Given the description of an element on the screen output the (x, y) to click on. 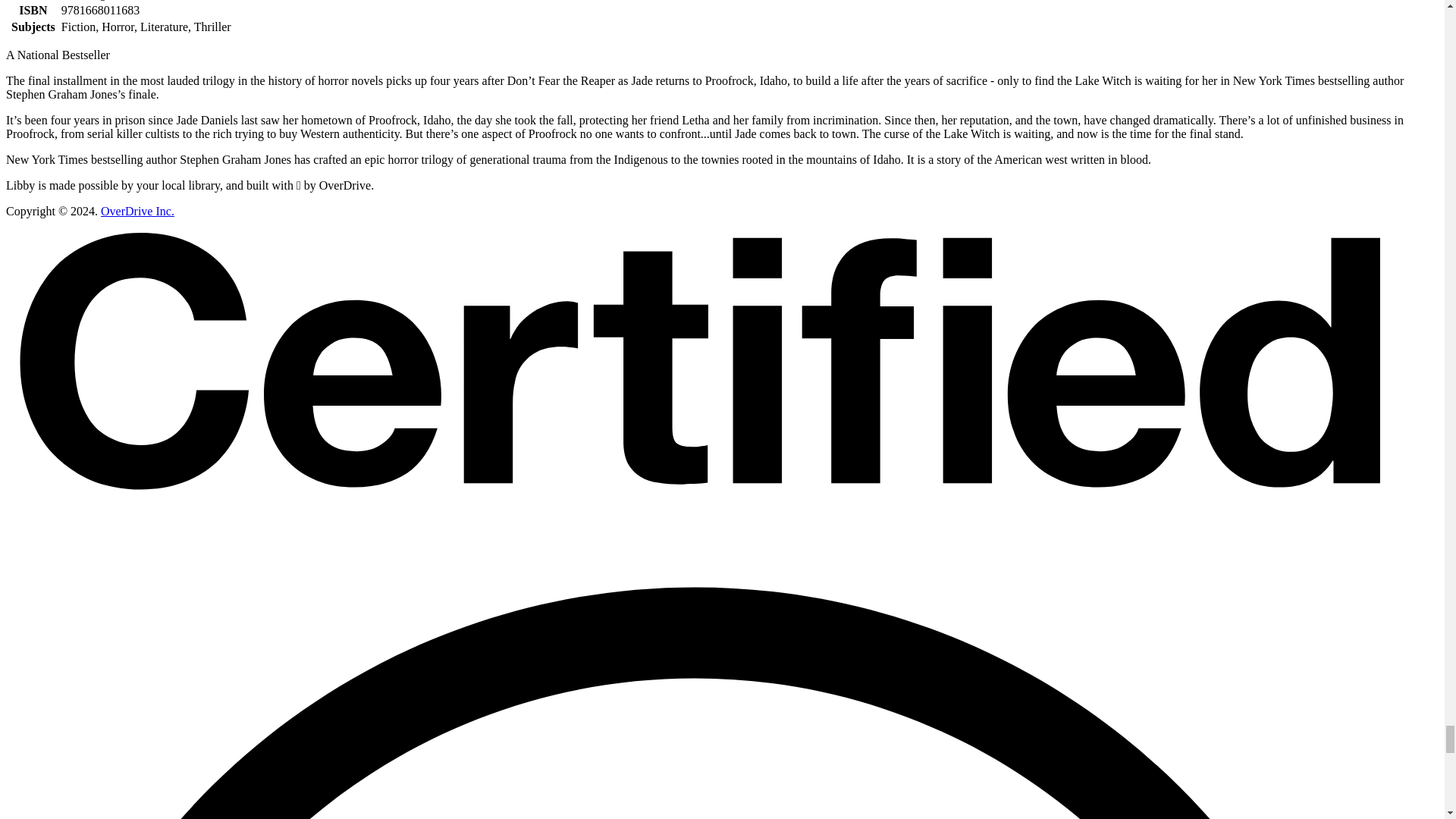
OverDrive Inc. (137, 210)
